Given the description of an element on the screen output the (x, y) to click on. 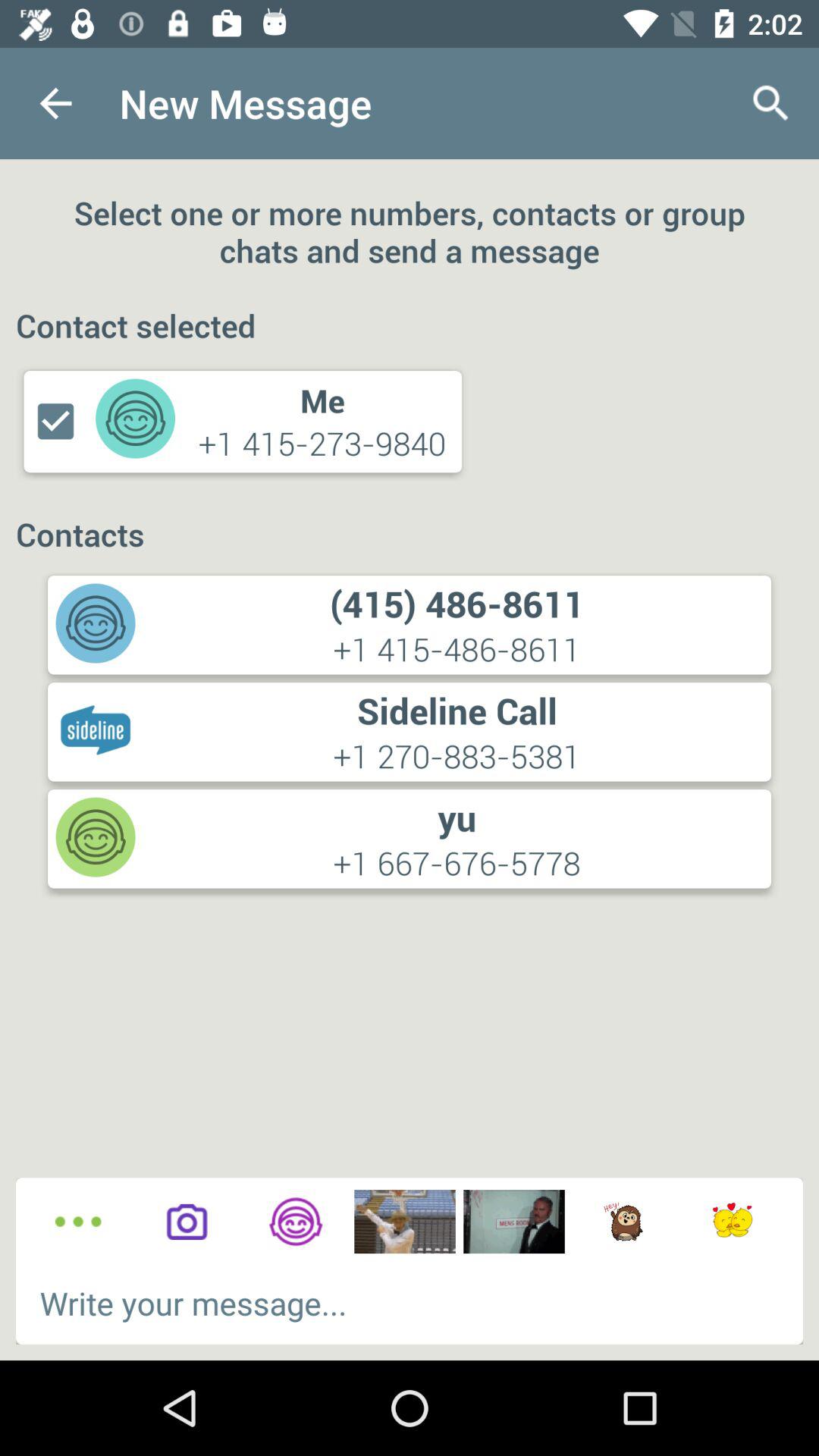
take photo (186, 1221)
